Given the description of an element on the screen output the (x, y) to click on. 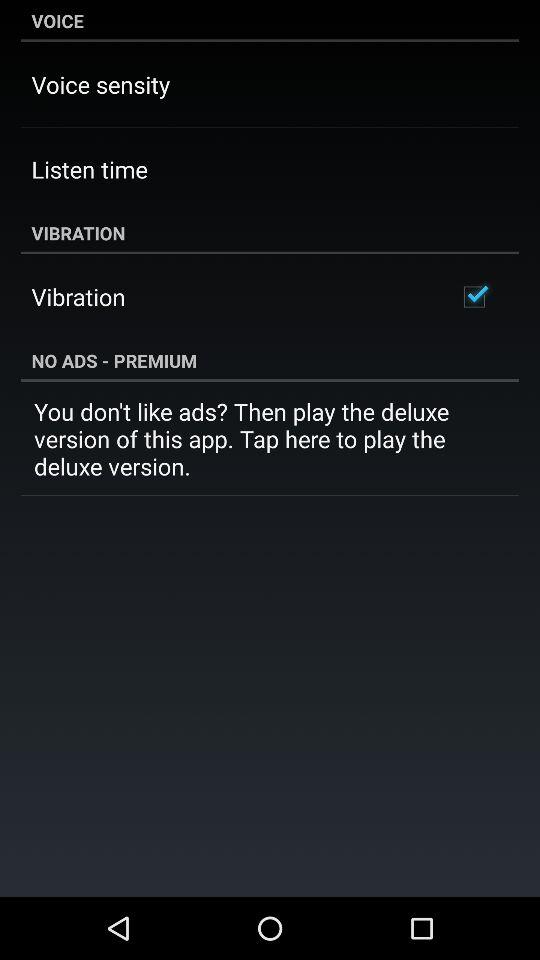
select item above vibration (89, 169)
